Given the description of an element on the screen output the (x, y) to click on. 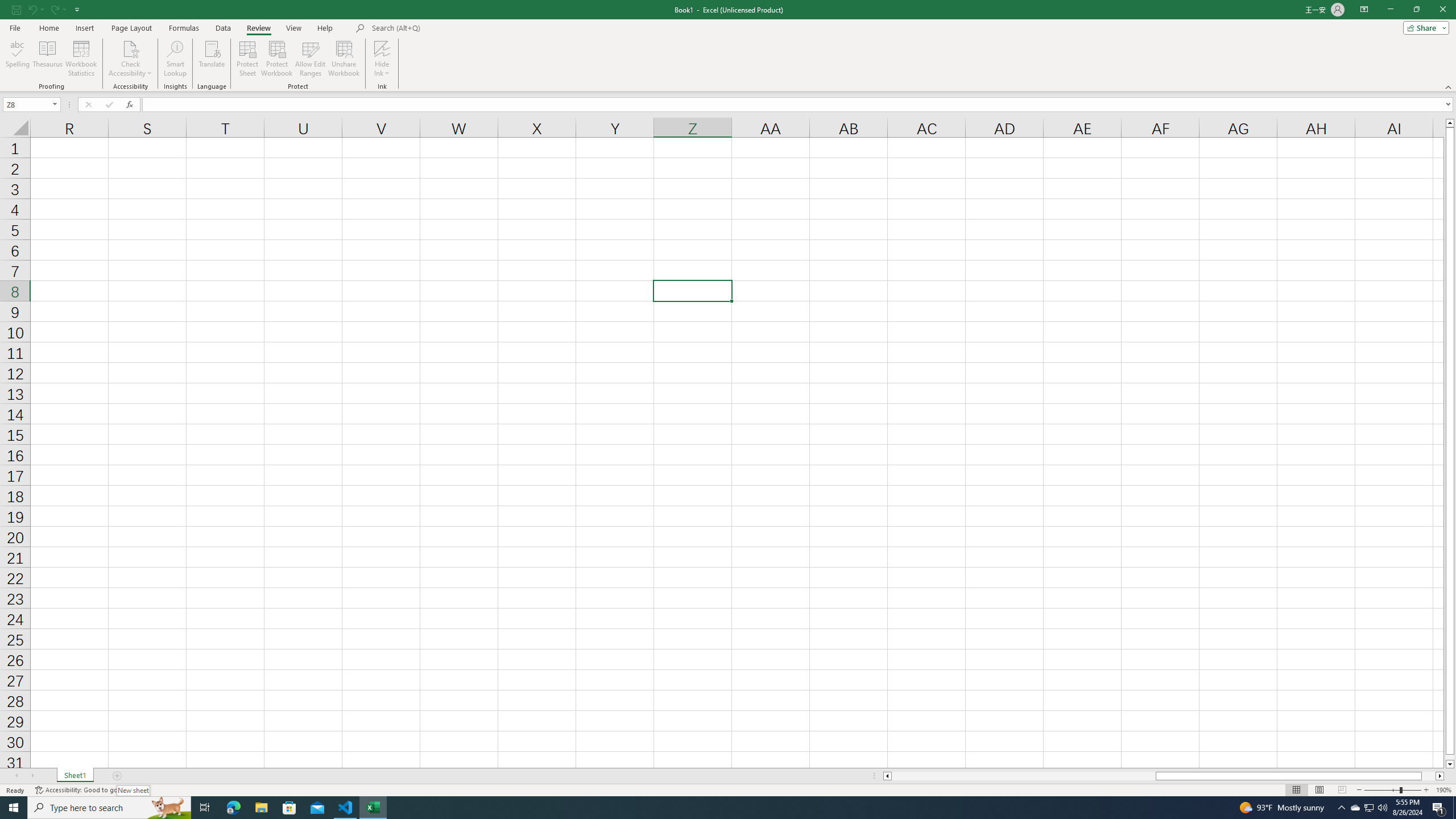
Protect Workbook... (277, 58)
Hide Ink (381, 58)
